Given the description of an element on the screen output the (x, y) to click on. 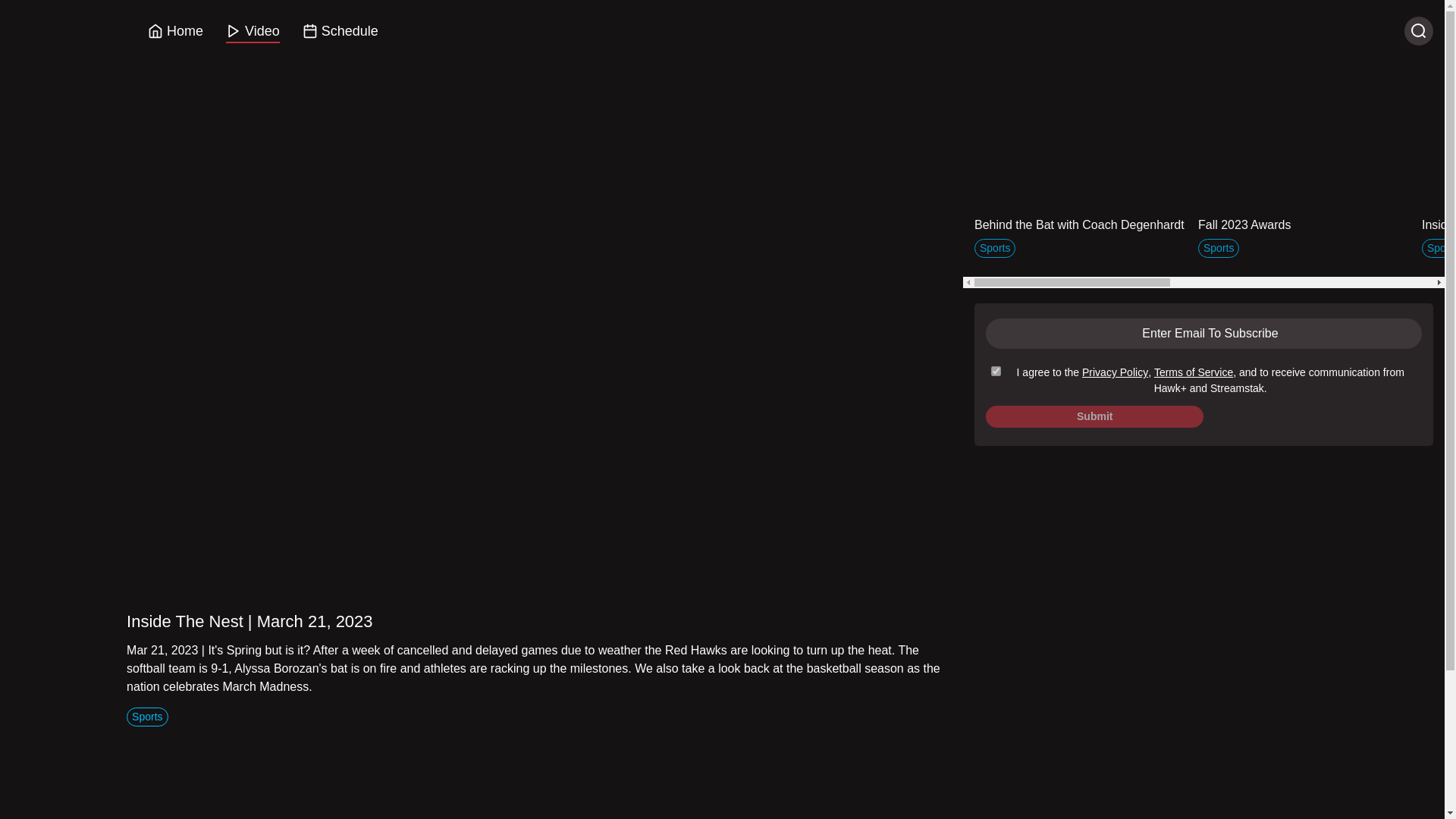
All Videos (1323, 75)
Video (252, 31)
Sports (994, 248)
Sports (146, 715)
Home (175, 31)
Sports (1218, 248)
Permanent Link to Behind the Bat with Coach Degenhardt (1080, 191)
Submit (1094, 416)
Submit (1094, 416)
Home (175, 30)
Schedule (340, 31)
Video (252, 31)
Sports (1218, 248)
Permanent Link to Fall 2023 Awards (1304, 191)
Fall 2023 Awards (1304, 191)
